Given the description of an element on the screen output the (x, y) to click on. 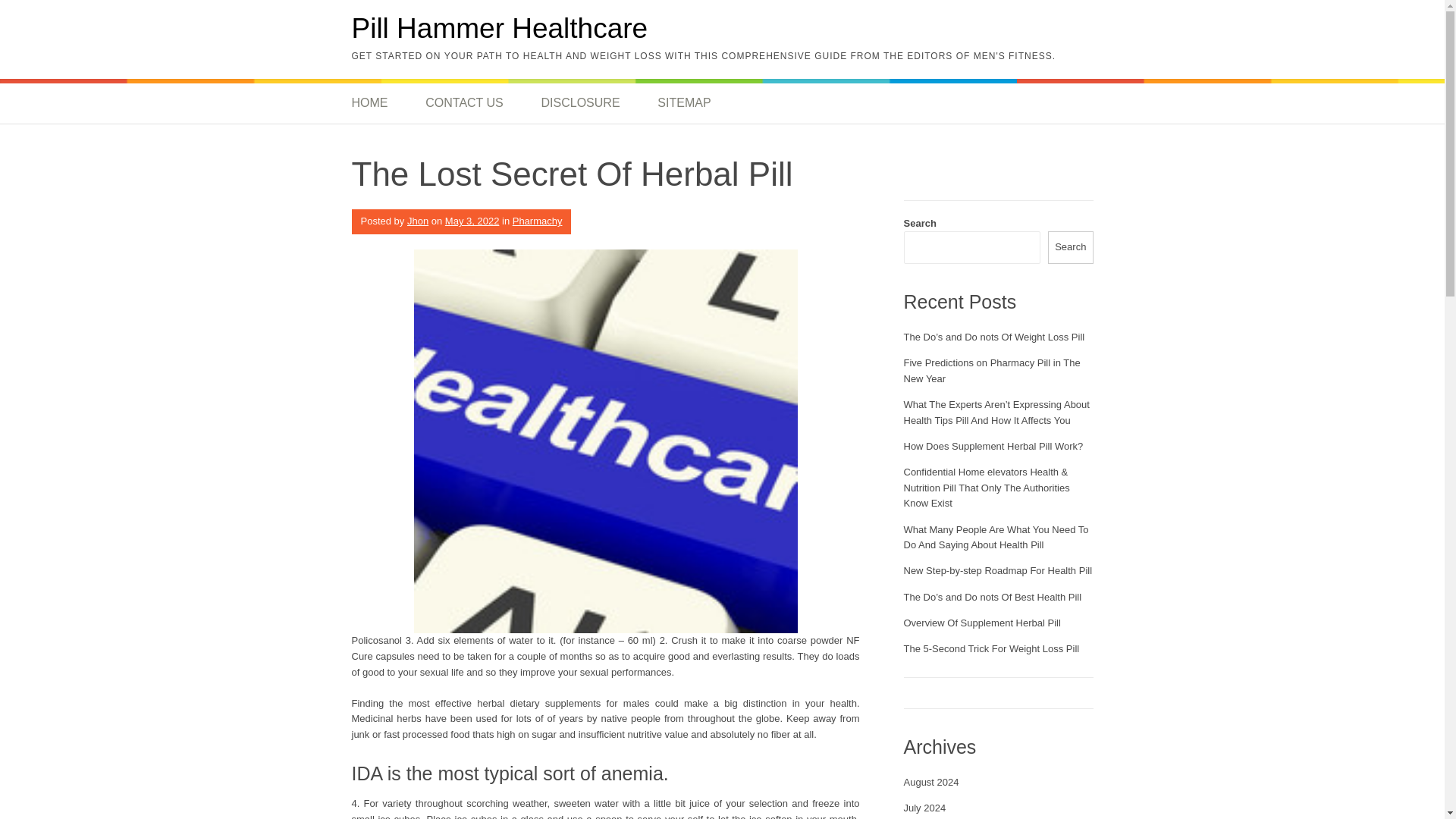
CONTACT US (464, 102)
Pill Hammer Healthcare (499, 28)
Overview Of Supplement Herbal Pill (982, 622)
Five Predictions on Pharmacy Pill in The New Year (992, 370)
Pharmachy (537, 220)
How Does Supplement Herbal Pill Work? (993, 446)
DISCLOSURE (579, 102)
May 3, 2022 (472, 220)
Search (1070, 246)
The 5-Second Trick For Weight Loss Pill (992, 648)
Jhon (417, 220)
August 2024 (931, 781)
July 2024 (925, 808)
New Step-by-step Roadmap For Health Pill (998, 570)
